Given the description of an element on the screen output the (x, y) to click on. 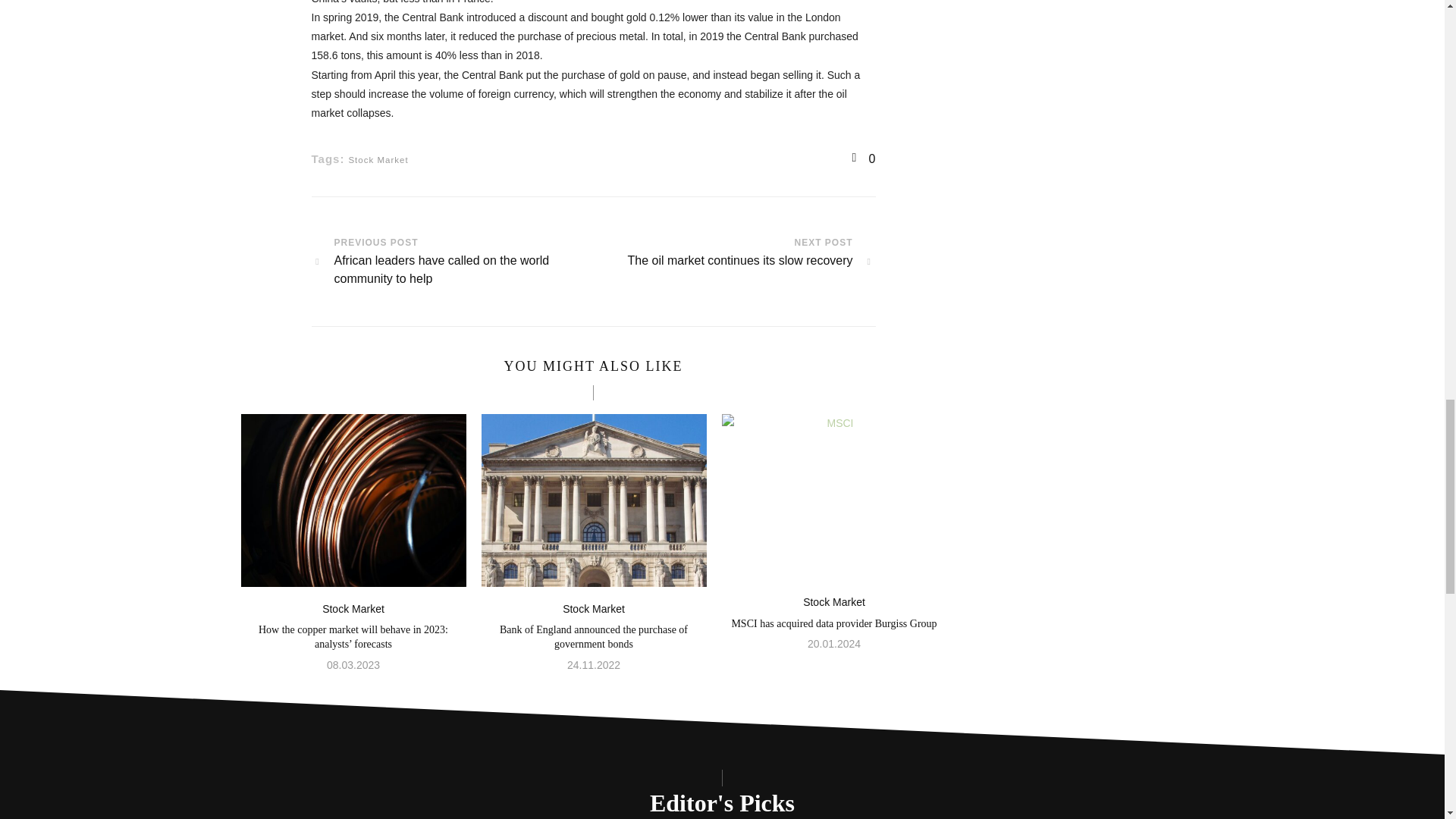
Stock Market (377, 160)
0 (733, 261)
Stock Market (863, 158)
Bank of England announced the purchase of government bonds (833, 602)
Stock Market (593, 636)
Stock Market (593, 608)
Like this (352, 608)
